Given the description of an element on the screen output the (x, y) to click on. 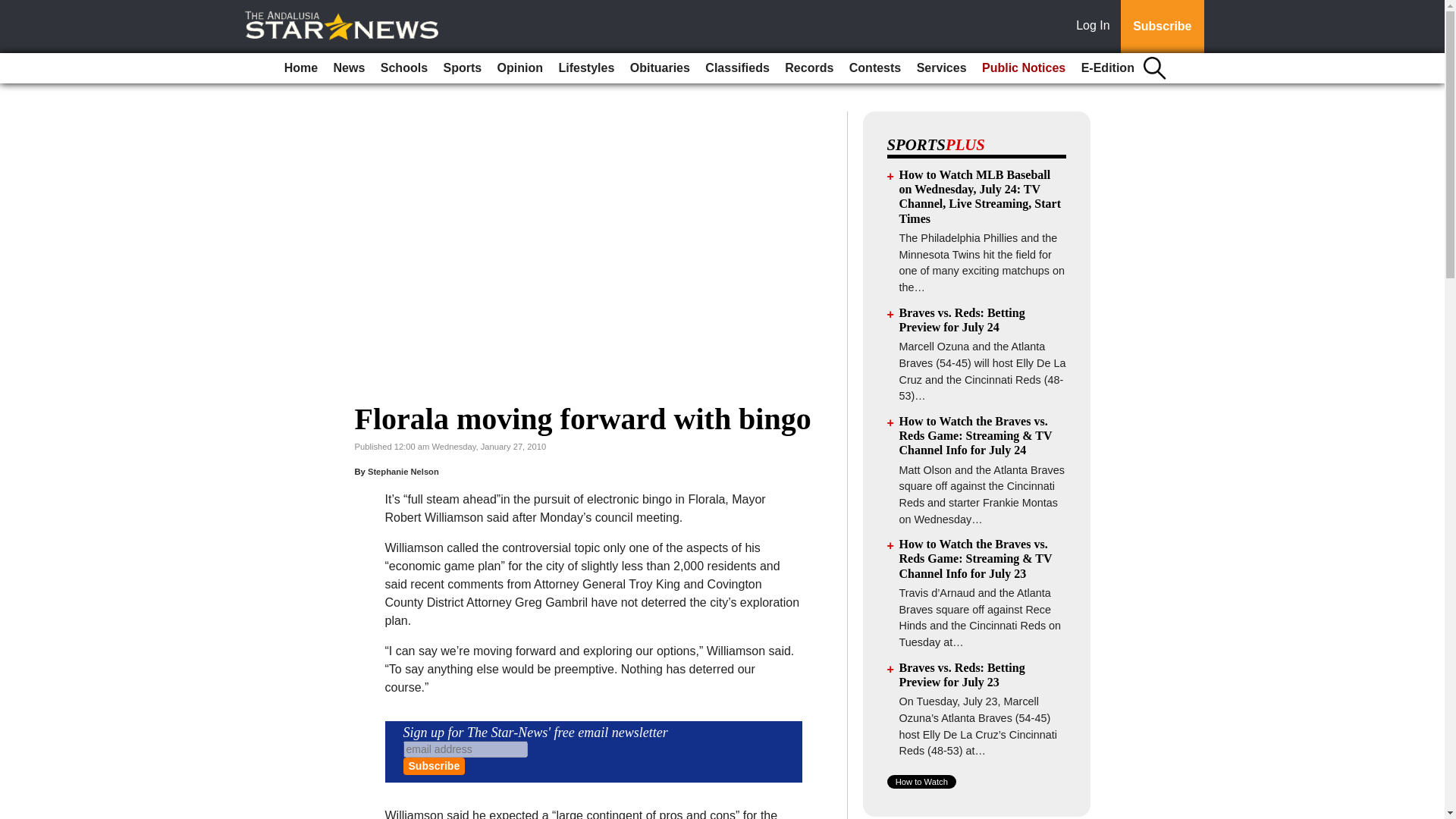
Go (13, 9)
Braves vs. Reds: Betting Preview for July 23 (962, 674)
Public Notices (1023, 68)
Subscribe (1162, 26)
E-Edition (1107, 68)
Opinion (520, 68)
Sports (461, 68)
Contests (875, 68)
Log In (1095, 26)
Subscribe (434, 765)
Classifieds (736, 68)
Obituaries (659, 68)
Schools (403, 68)
Home (300, 68)
